Given the description of an element on the screen output the (x, y) to click on. 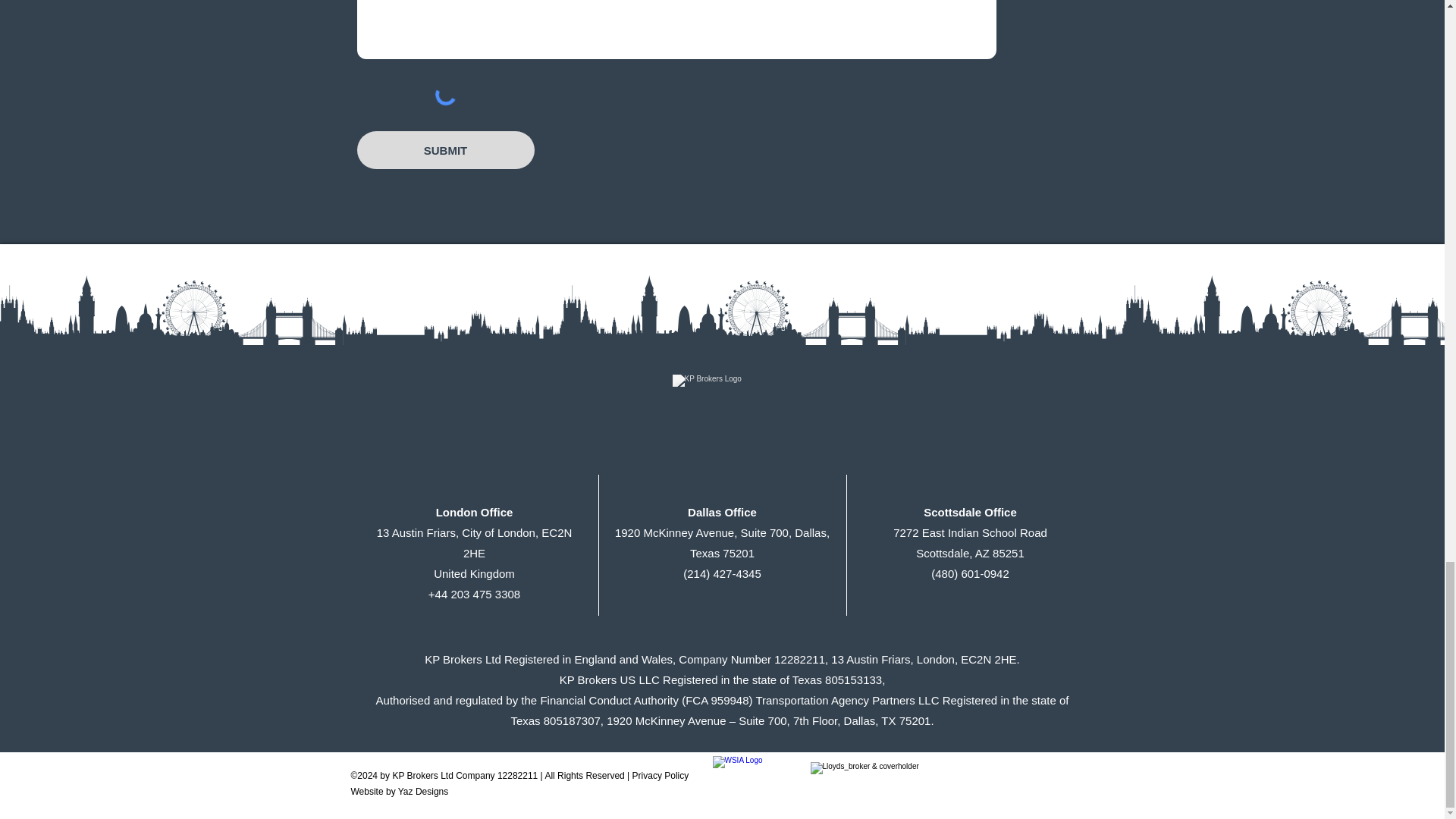
Website by Yaz Designs (399, 791)
WSIA Logo (757, 777)
KP Brokers Logo (721, 424)
Privacy Policy (659, 775)
SUBMIT (445, 149)
